Given the description of an element on the screen output the (x, y) to click on. 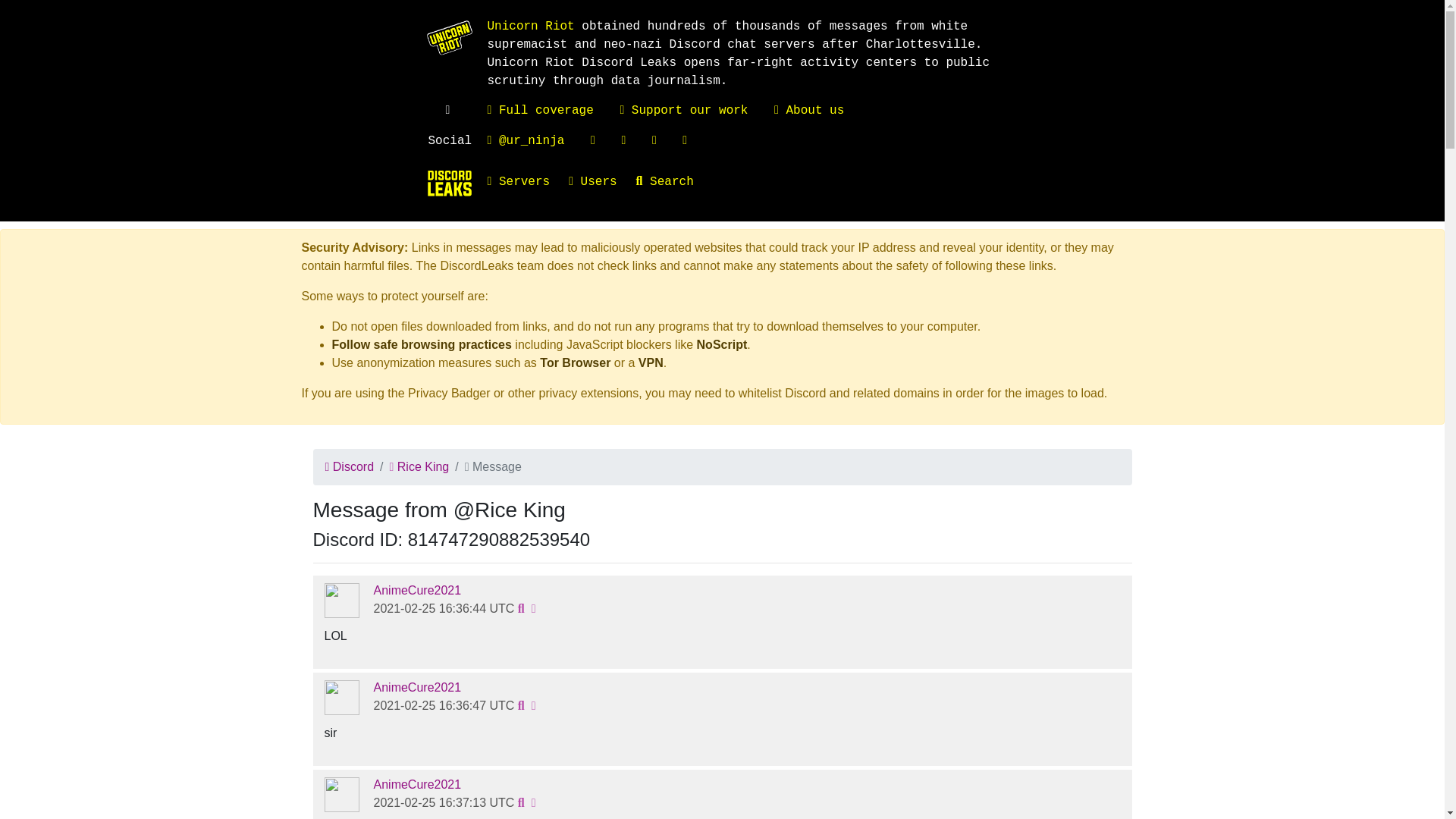
Users (601, 181)
About Unicorn Riot (809, 110)
Show all servers (527, 181)
Full coverage (539, 110)
Follow safe browsing practices (421, 344)
Support our work (684, 110)
Home (448, 183)
Search this database (674, 181)
Unicorn Riot on Twitter (525, 141)
Discord ID: 801692608291667988 (416, 686)
Tor Browser (575, 362)
Unicorn Riot (529, 26)
AnimeCure2021 (416, 590)
AnimeCure2021 (416, 784)
Unicorn Riot homepage (529, 26)
